Given the description of an element on the screen output the (x, y) to click on. 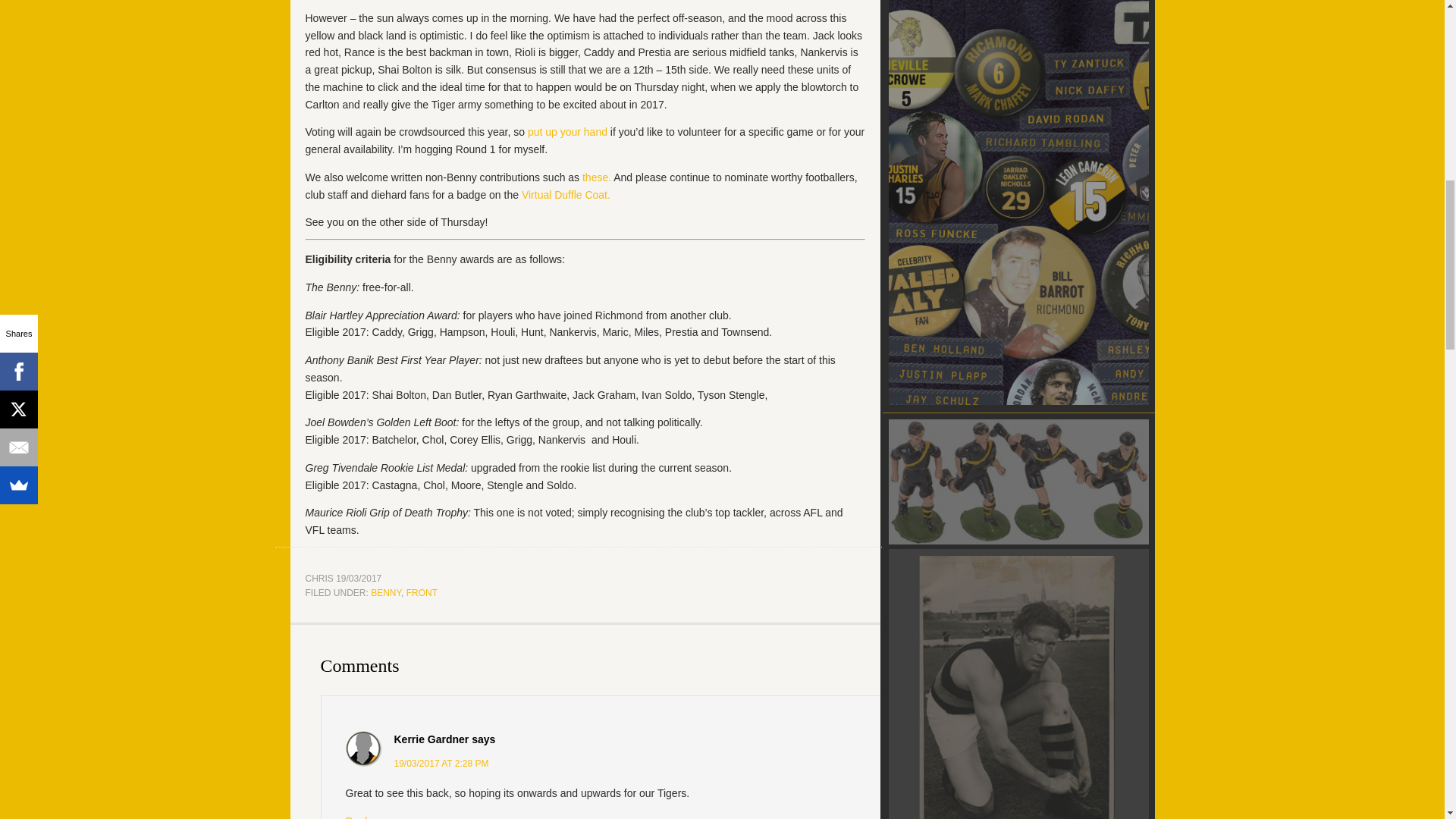
FRONT (422, 593)
these. (596, 177)
Reply (359, 816)
BENNY (386, 593)
Virtual Duffle Coat. (565, 193)
put up your hand (567, 132)
